Given the description of an element on the screen output the (x, y) to click on. 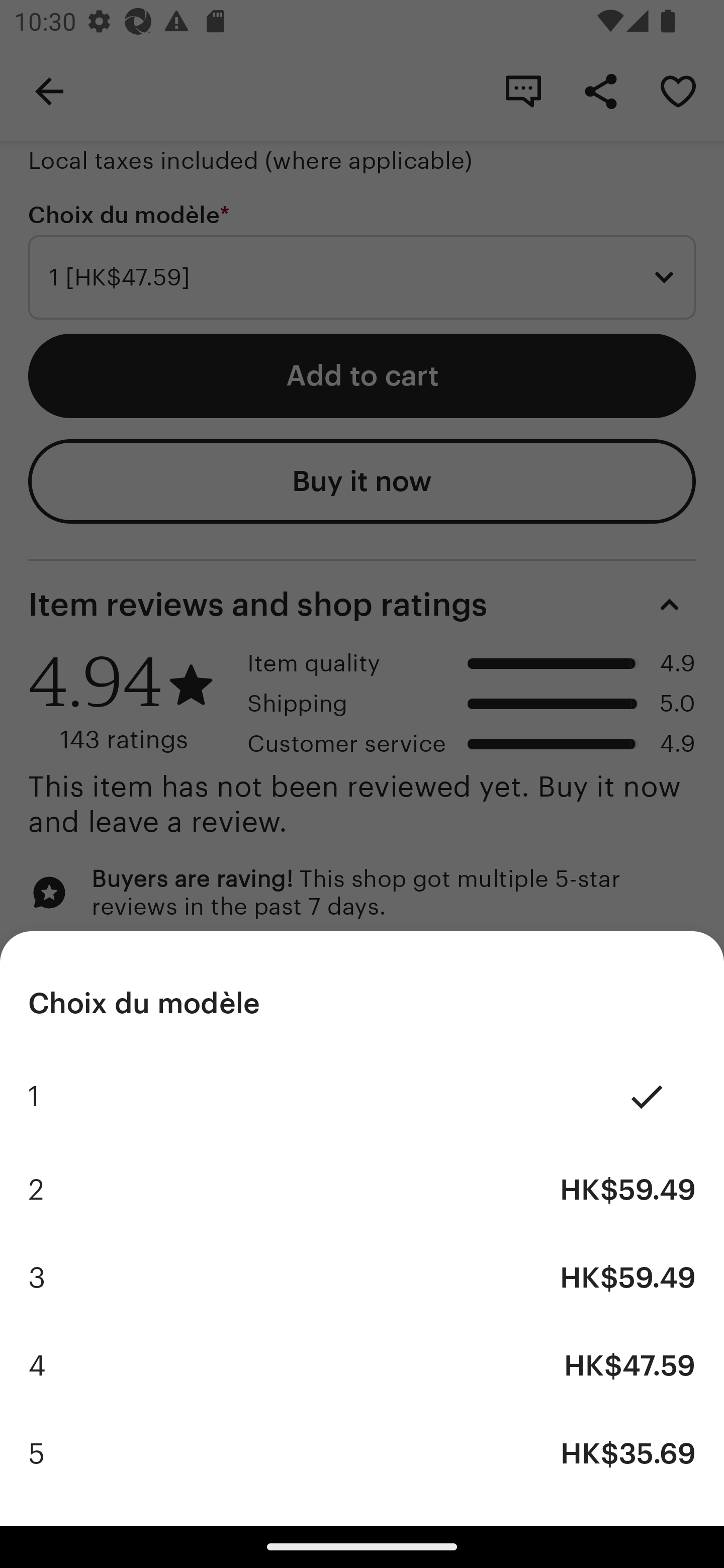
1 Selected (362, 1096)
2 HK$59.49 (362, 1190)
3 HK$59.49 (362, 1277)
4 HK$47.59 (362, 1365)
5 HK$35.69 (362, 1453)
